Given the description of an element on the screen output the (x, y) to click on. 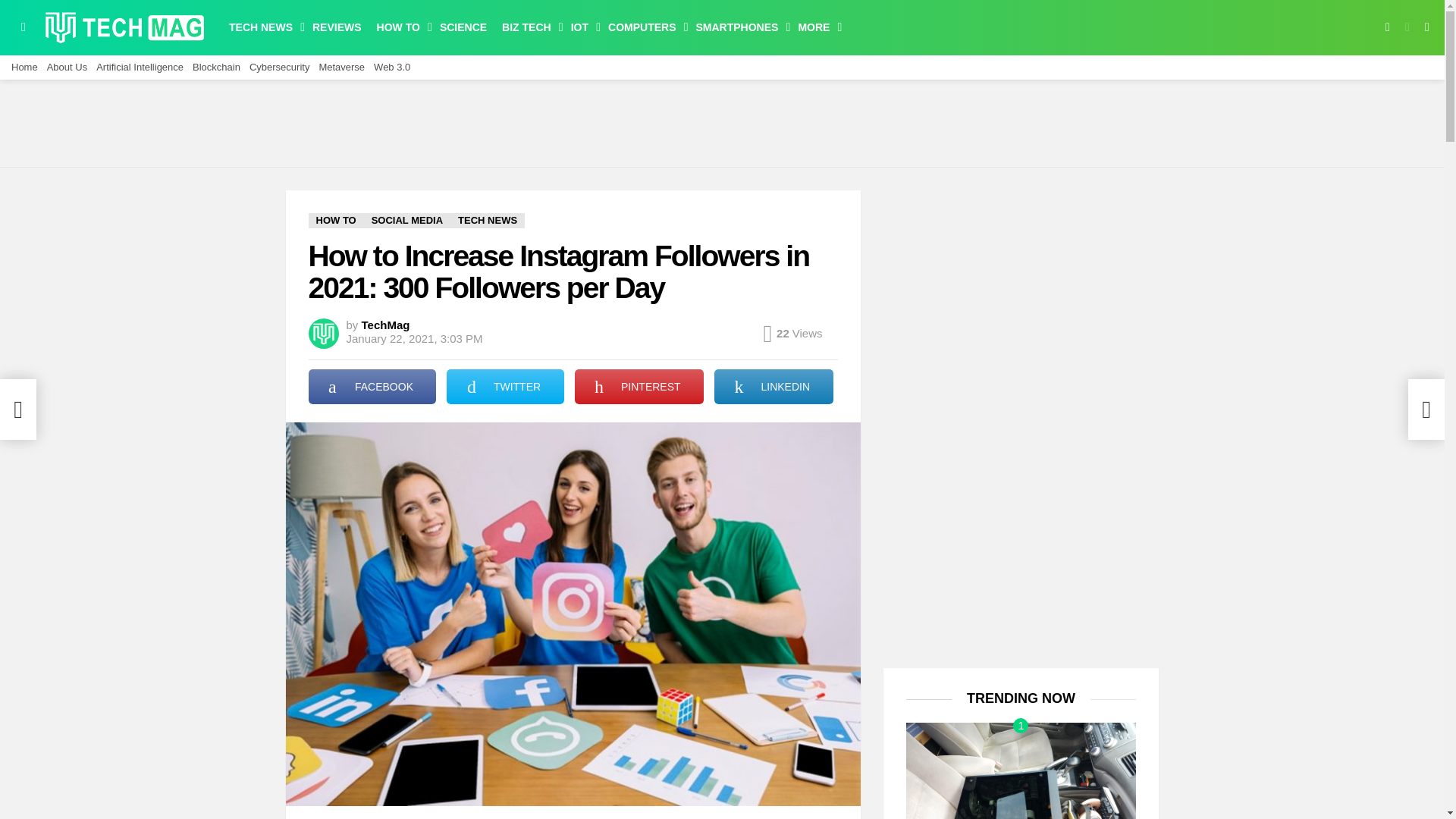
IOT (581, 26)
Posts by TechMag (385, 324)
Advertisement (721, 120)
REVIEWS (336, 26)
Share on Twitter (504, 386)
TECH NEWS (262, 26)
SMARTPHONES (738, 26)
BIZ TECH (529, 26)
COMPUTERS (643, 26)
MORE (815, 26)
HOW TO (400, 26)
Share on Facebook (371, 386)
SCIENCE (463, 26)
Menu (22, 27)
